Given the description of an element on the screen output the (x, y) to click on. 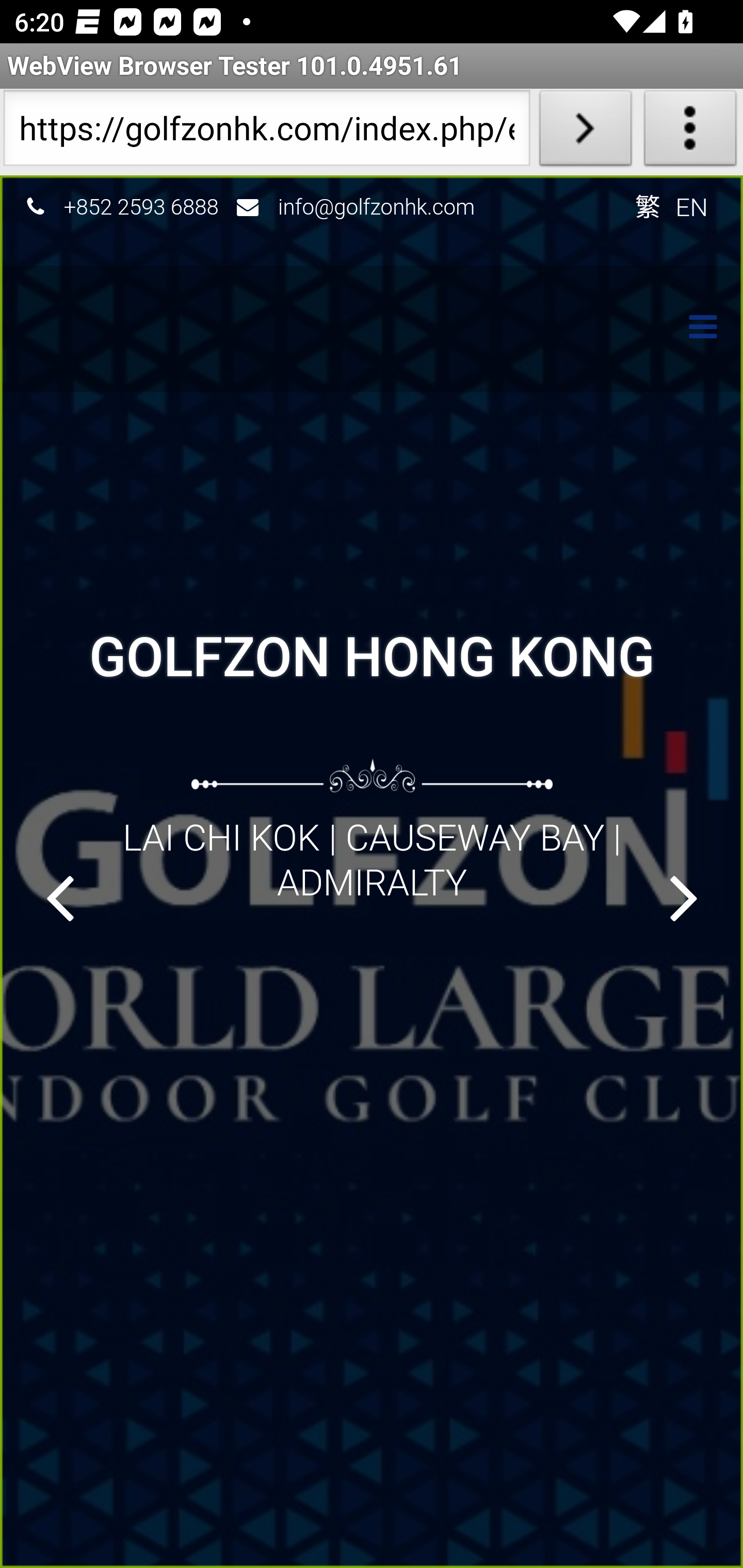
Load URL (585, 132)
About WebView (690, 132)
info@golfzonhk.com (377, 205)
繁 (647, 205)
EN (692, 205)
 (693, 328)
 (59, 897)
 (684, 897)
